Given the description of an element on the screen output the (x, y) to click on. 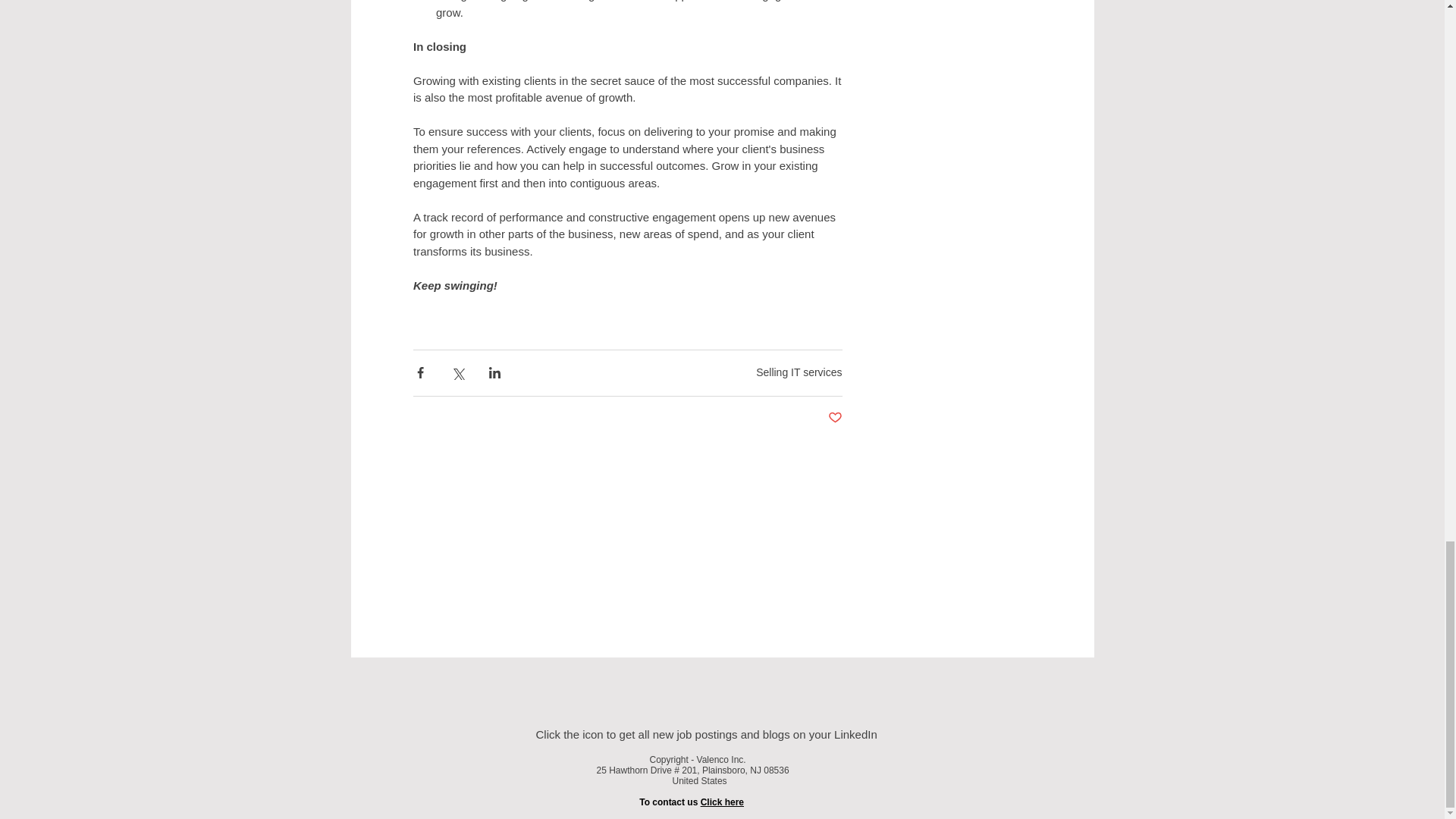
Click here (722, 801)
Selling IT services (798, 372)
Post not marked as liked (835, 417)
